Given the description of an element on the screen output the (x, y) to click on. 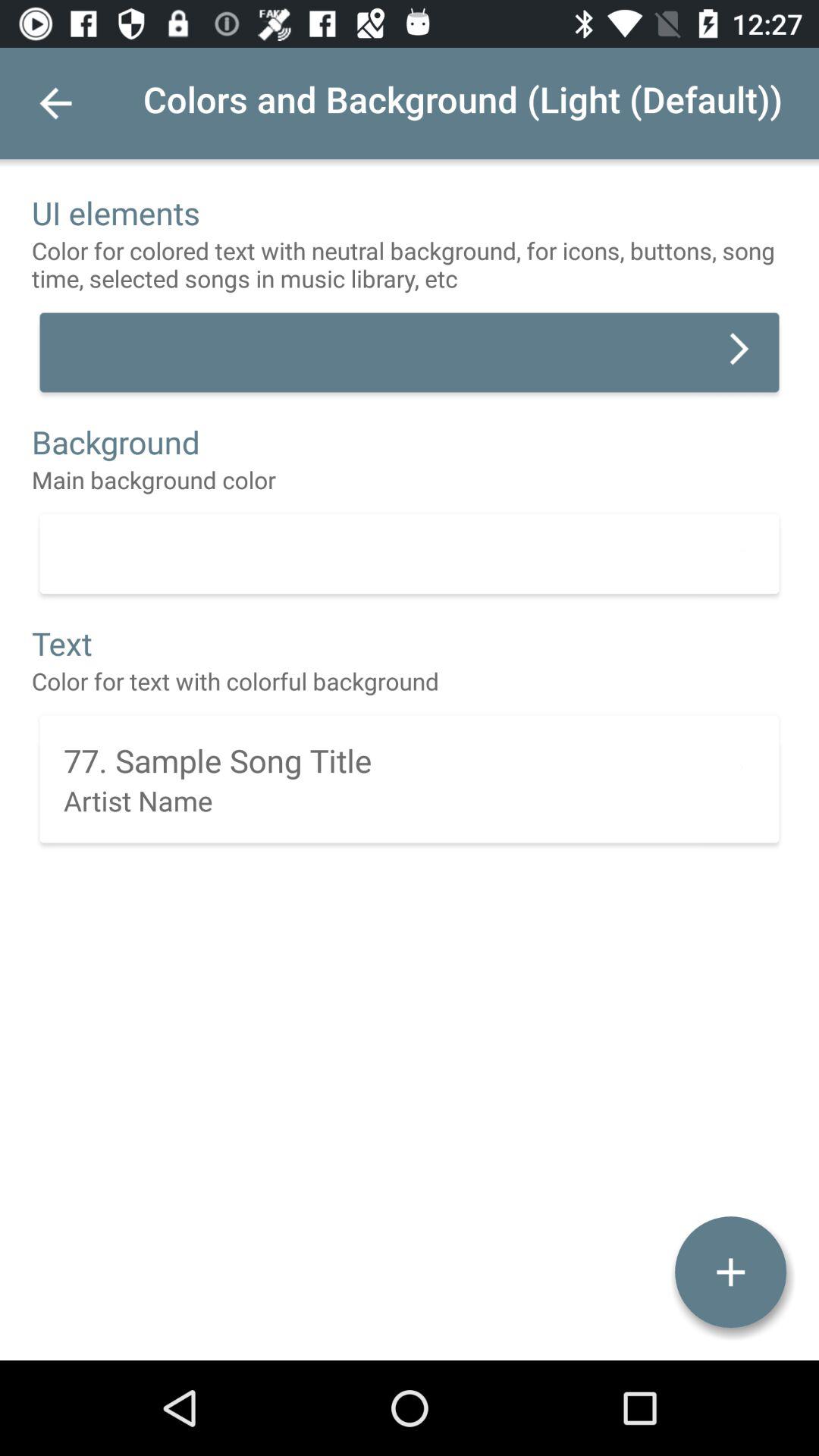
tap item below the artist name icon (730, 1272)
